Given the description of an element on the screen output the (x, y) to click on. 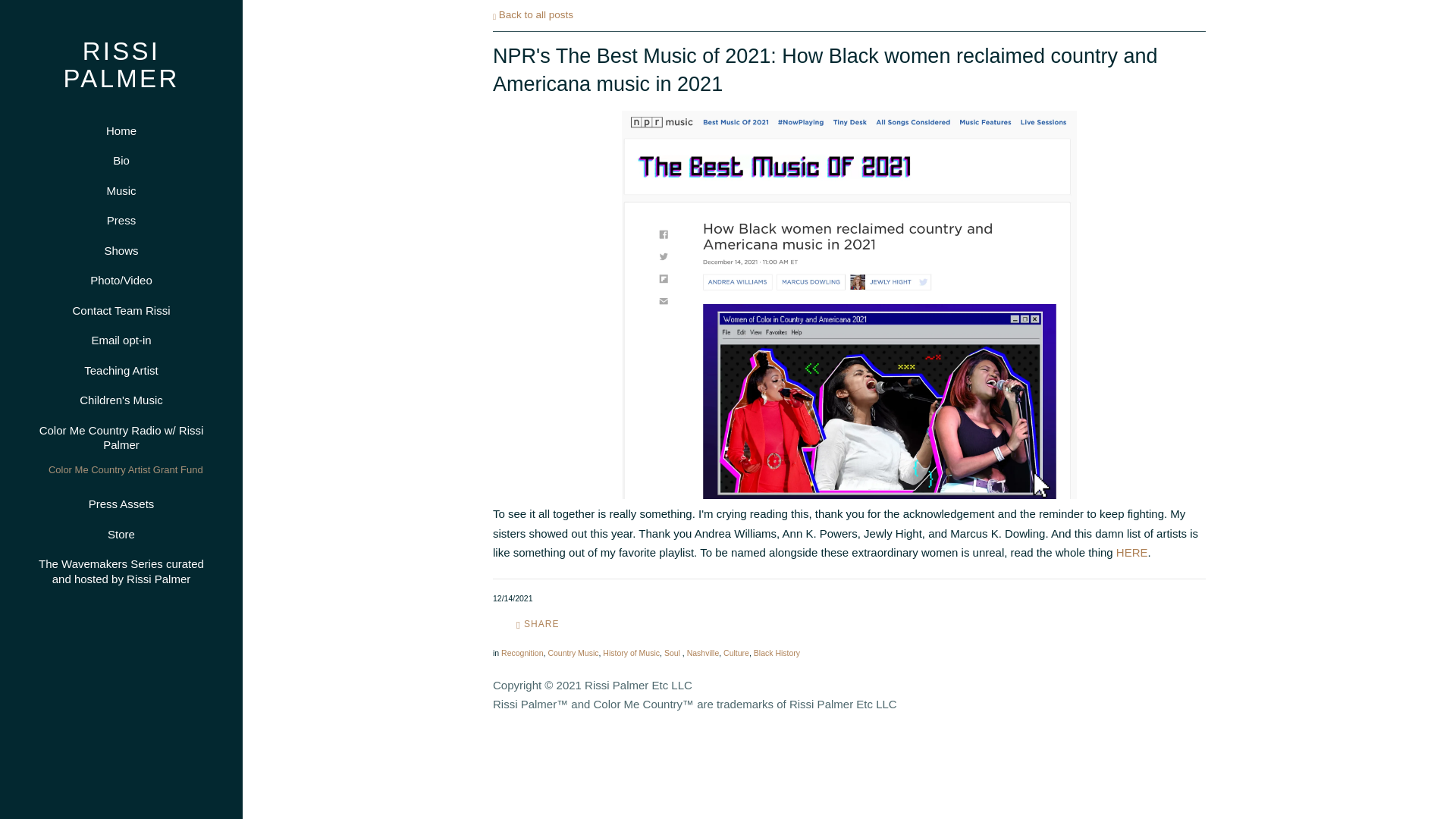
History of Music (630, 652)
The Wavemakers Series curated and hosted by Rissi Palmer (120, 571)
Home (121, 130)
Shows (120, 250)
December 14, 2021 16:00 (512, 597)
Back to all posts (533, 14)
RISSI PALMER (121, 79)
Music (120, 190)
Children's Music (121, 400)
Press (120, 220)
HERE (1132, 552)
Color Me Country Artist Grant Fund (124, 468)
Recognition (521, 652)
Country Music (572, 652)
